Given the description of an element on the screen output the (x, y) to click on. 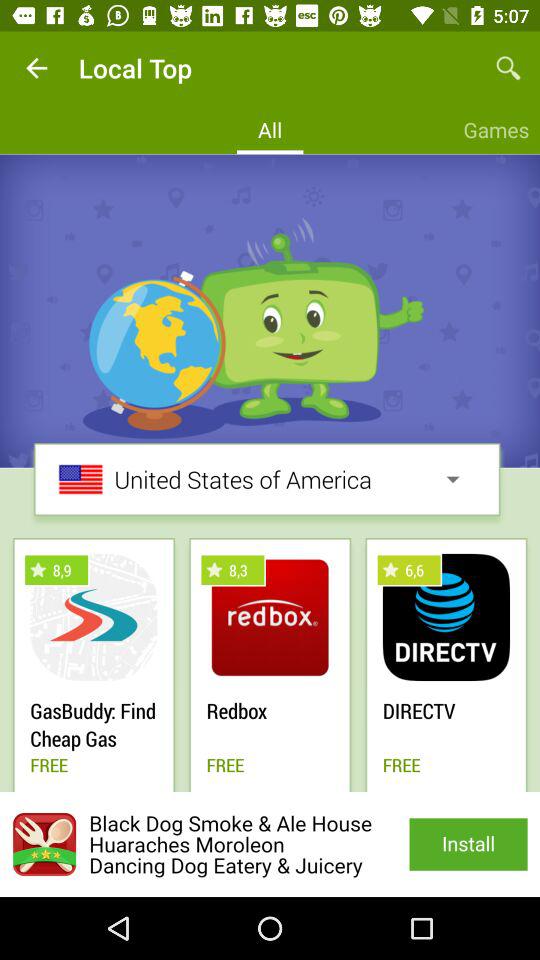
this page add install (270, 844)
